Given the description of an element on the screen output the (x, y) to click on. 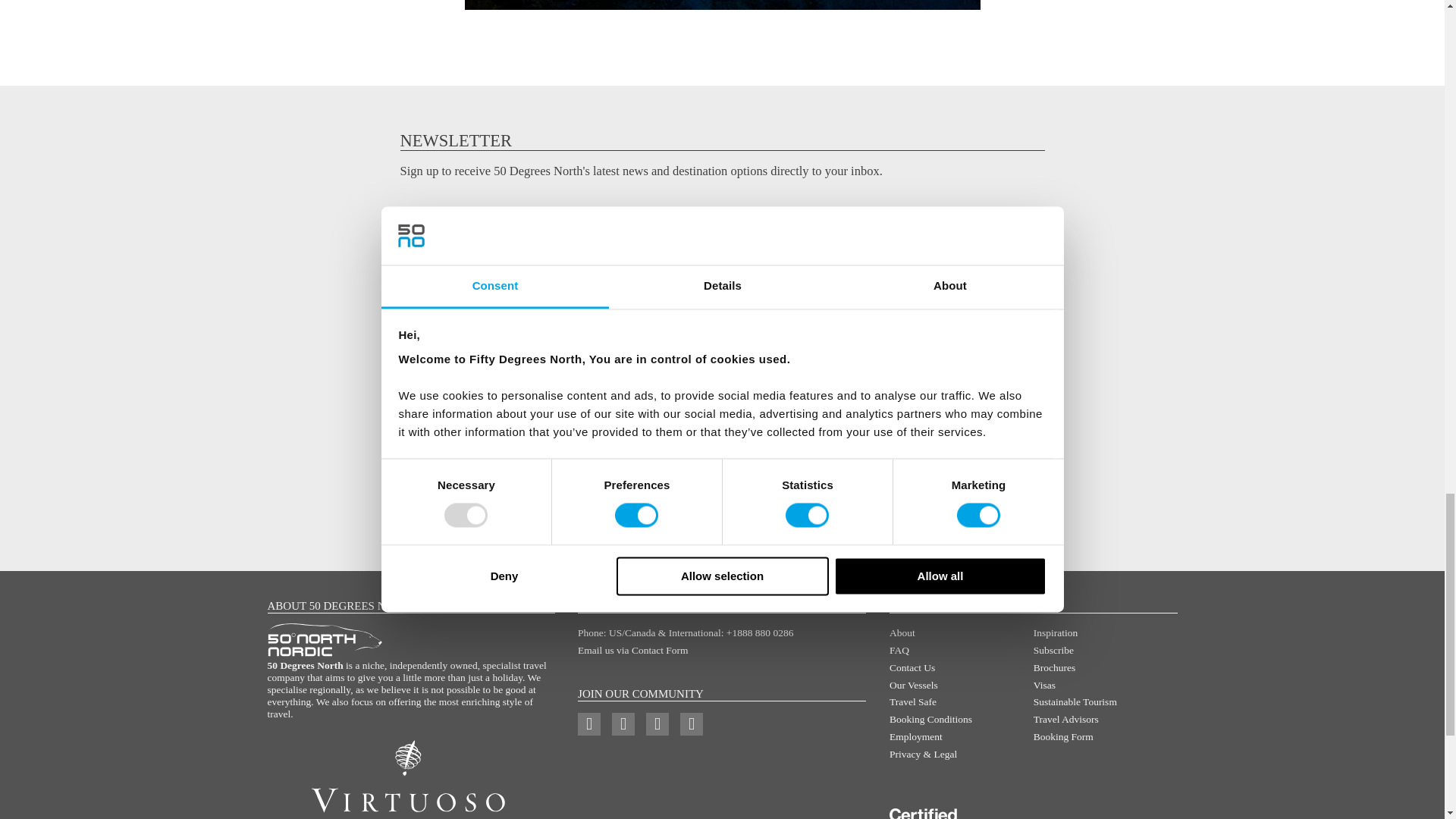
1 (410, 447)
00NVg000000RE25 (410, 392)
00NVg000000RE0T (410, 363)
